Given the description of an element on the screen output the (x, y) to click on. 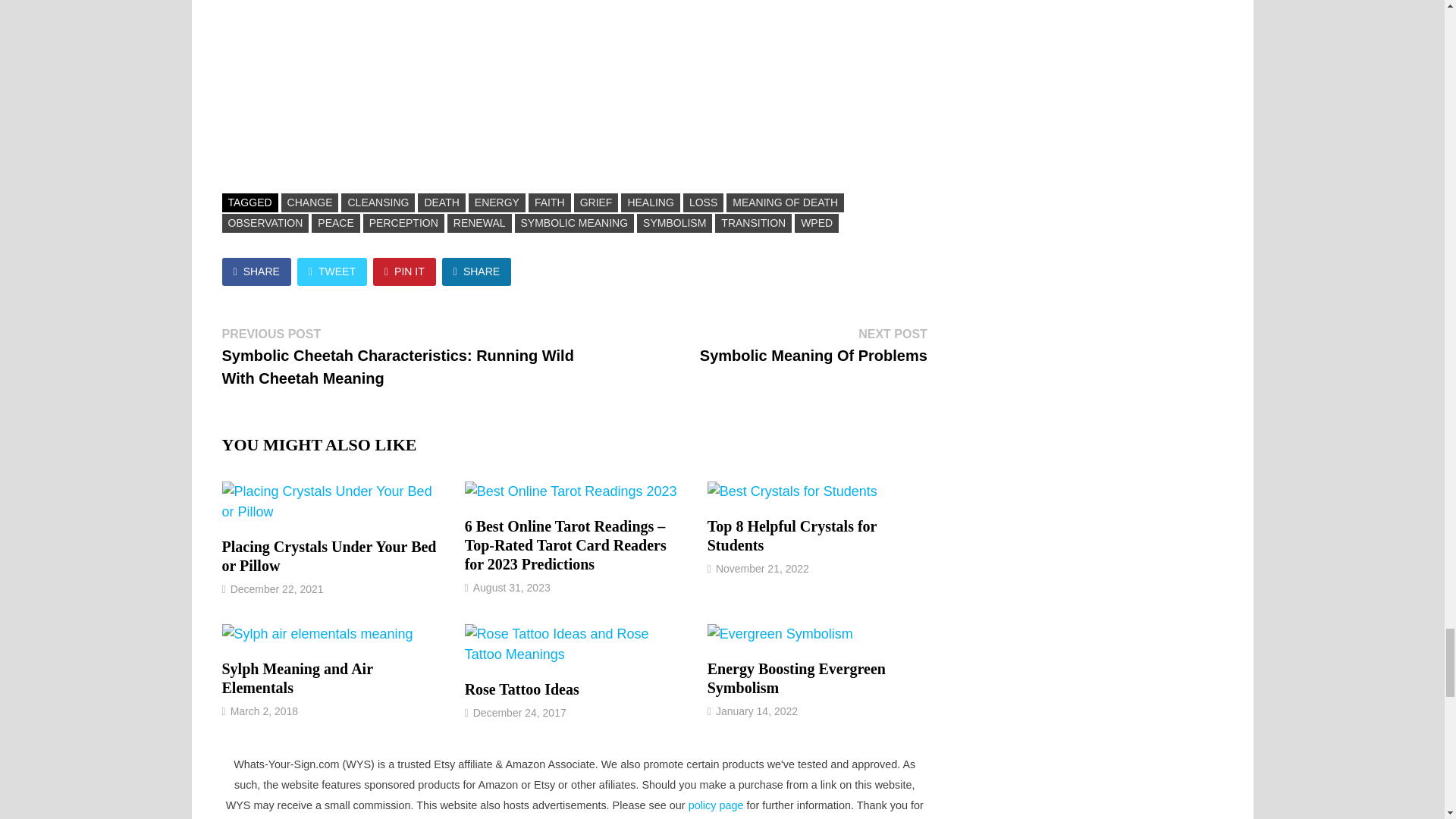
Top 8 Helpful Crystals for Students (791, 535)
Rose Tattoo Ideas (521, 688)
Placing Crystals Under Your Bed or Pillow (328, 556)
Sylph Meaning and Air Elementals (296, 678)
